Given the description of an element on the screen output the (x, y) to click on. 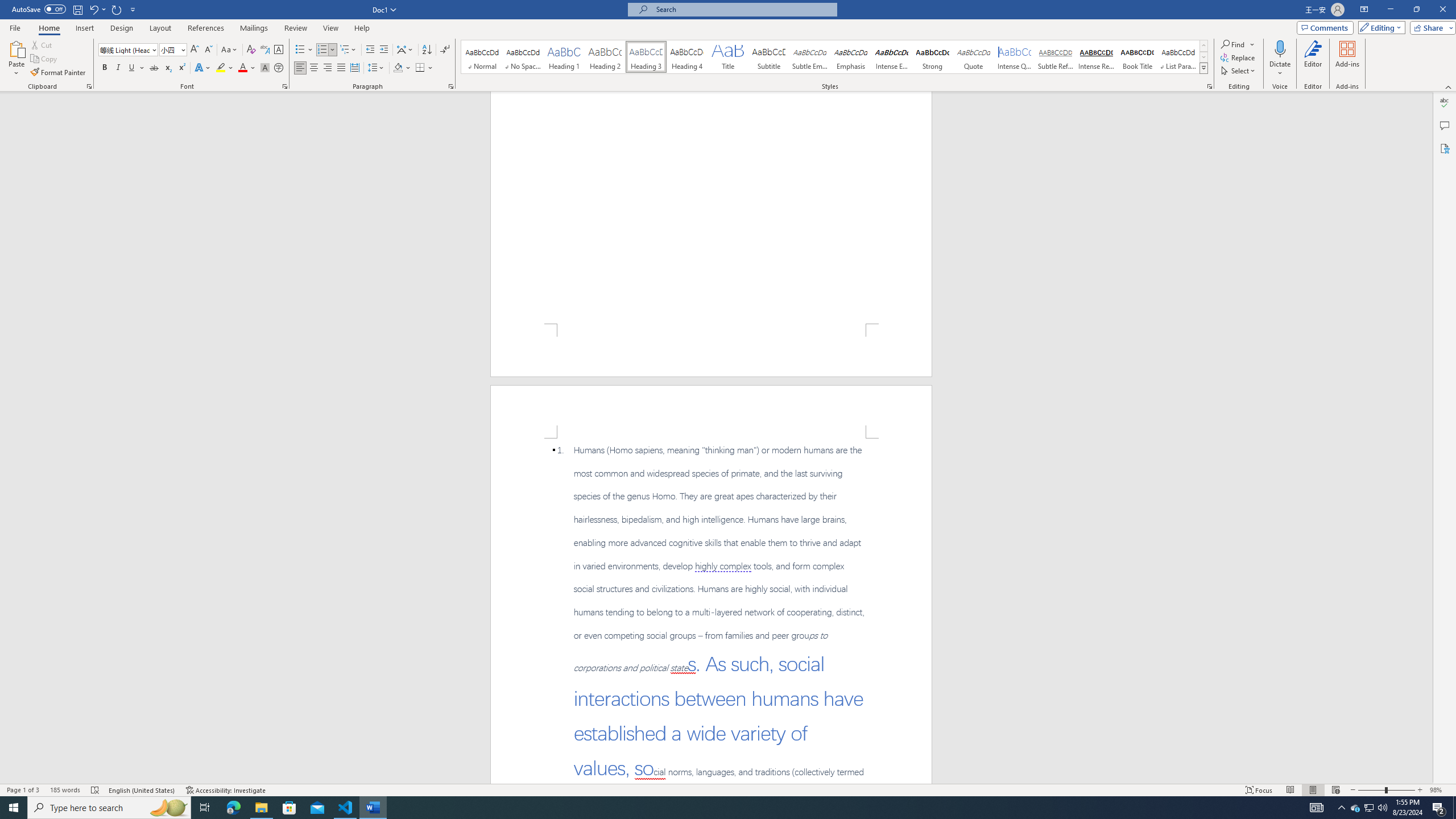
Undo Number Default (92, 9)
1. (712, 612)
Title (727, 56)
Intense Emphasis (891, 56)
